Given the description of an element on the screen output the (x, y) to click on. 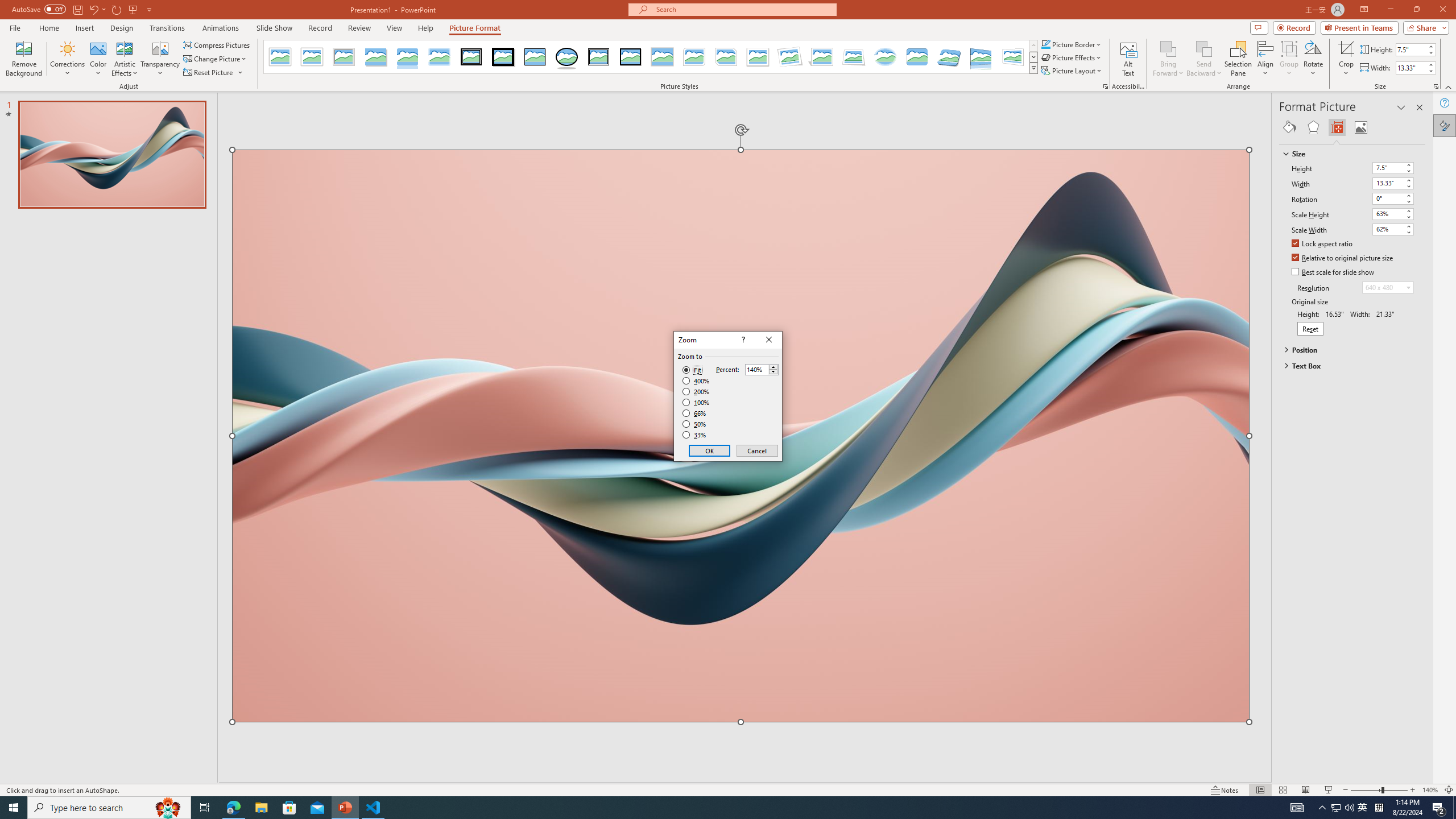
66% (694, 412)
Beveled Matte, White (312, 56)
Resolution (1387, 287)
Simple Frame, White (280, 56)
Moderate Frame, White (758, 56)
Format Picture (1444, 125)
Picture Border Blue, Accent 1 (1045, 44)
Thick Matte, Black (503, 56)
Rotation (1388, 198)
Rotation (1393, 198)
